Given the description of an element on the screen output the (x, y) to click on. 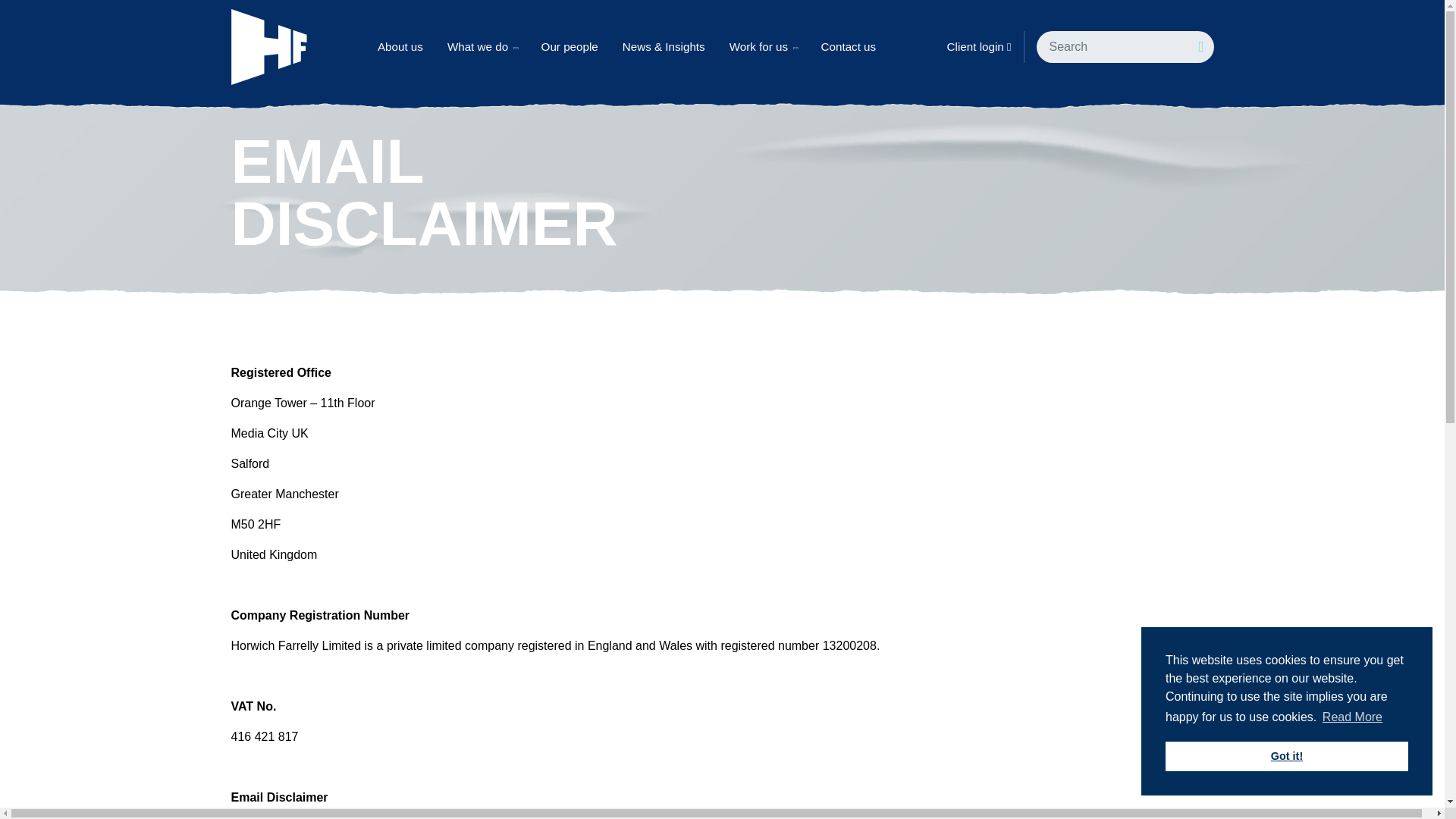
Our people (569, 47)
Got it! (1286, 757)
What we do (481, 47)
About us (400, 47)
Read More (1353, 716)
